Given the description of an element on the screen output the (x, y) to click on. 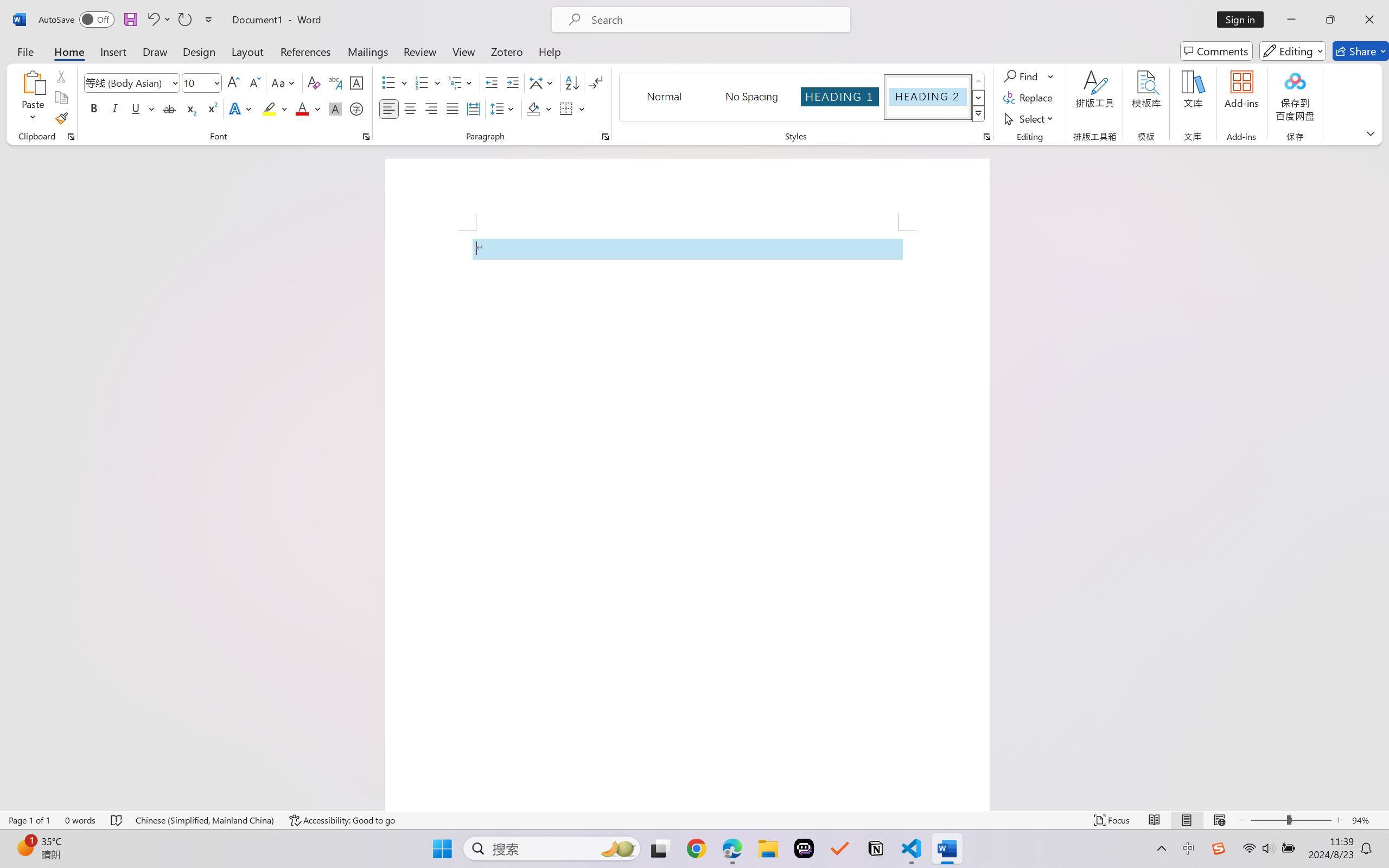
Sign in (1244, 19)
